Given the description of an element on the screen output the (x, y) to click on. 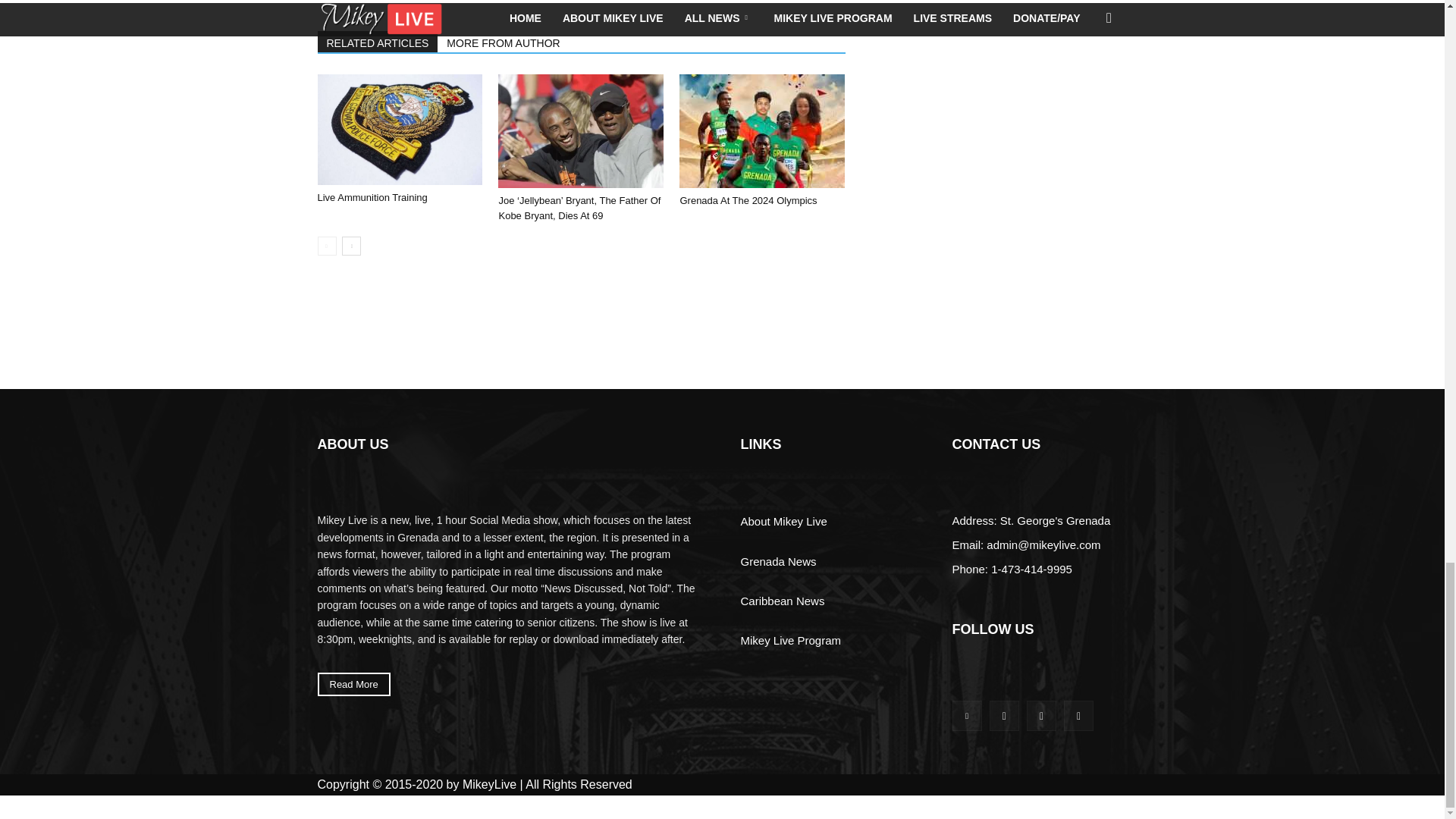
Live Ammunition Training (399, 129)
Live Ammunition Training (371, 197)
